Given the description of an element on the screen output the (x, y) to click on. 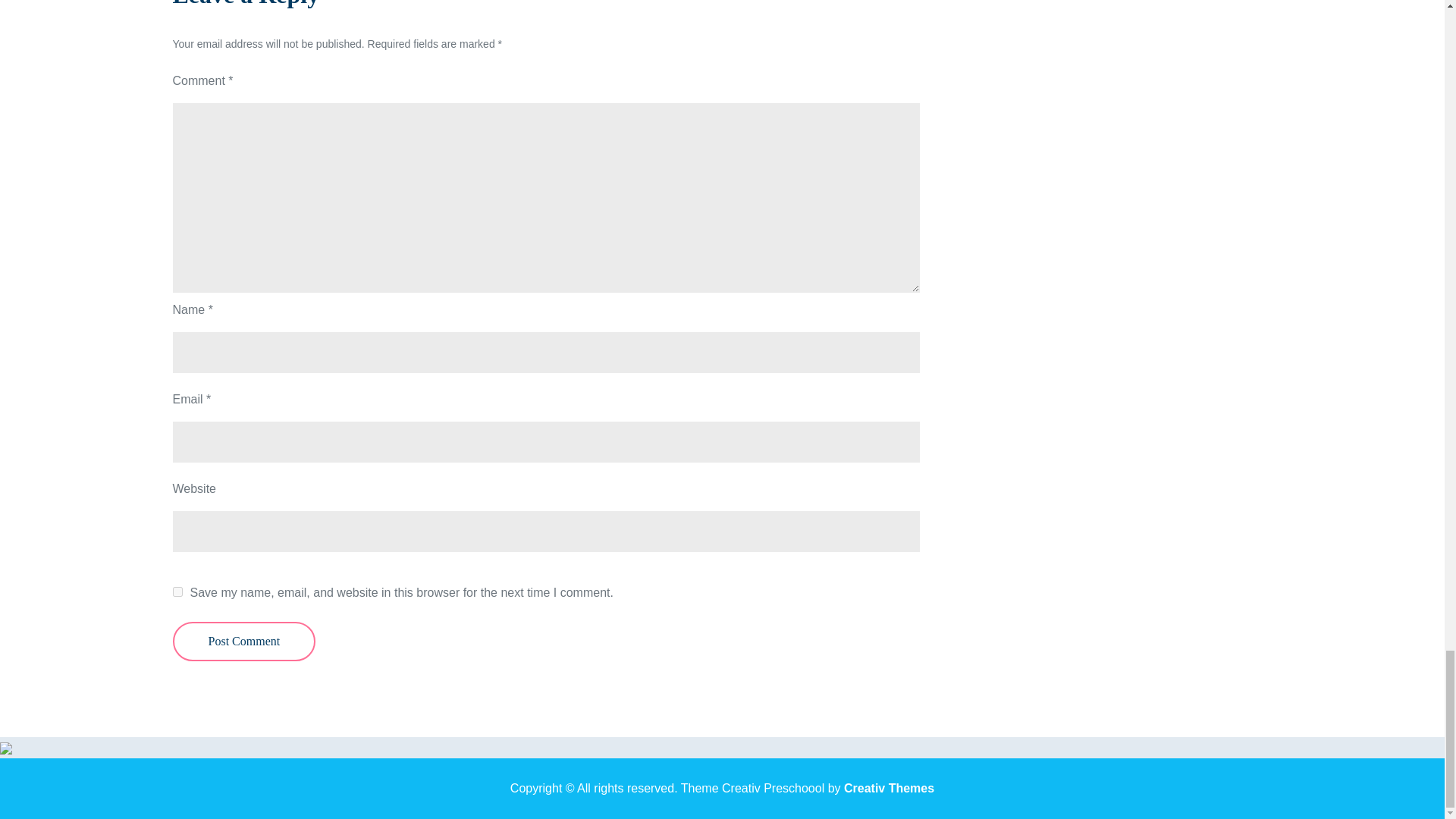
yes (178, 592)
Post Comment (244, 640)
Post Comment (244, 640)
